Given the description of an element on the screen output the (x, y) to click on. 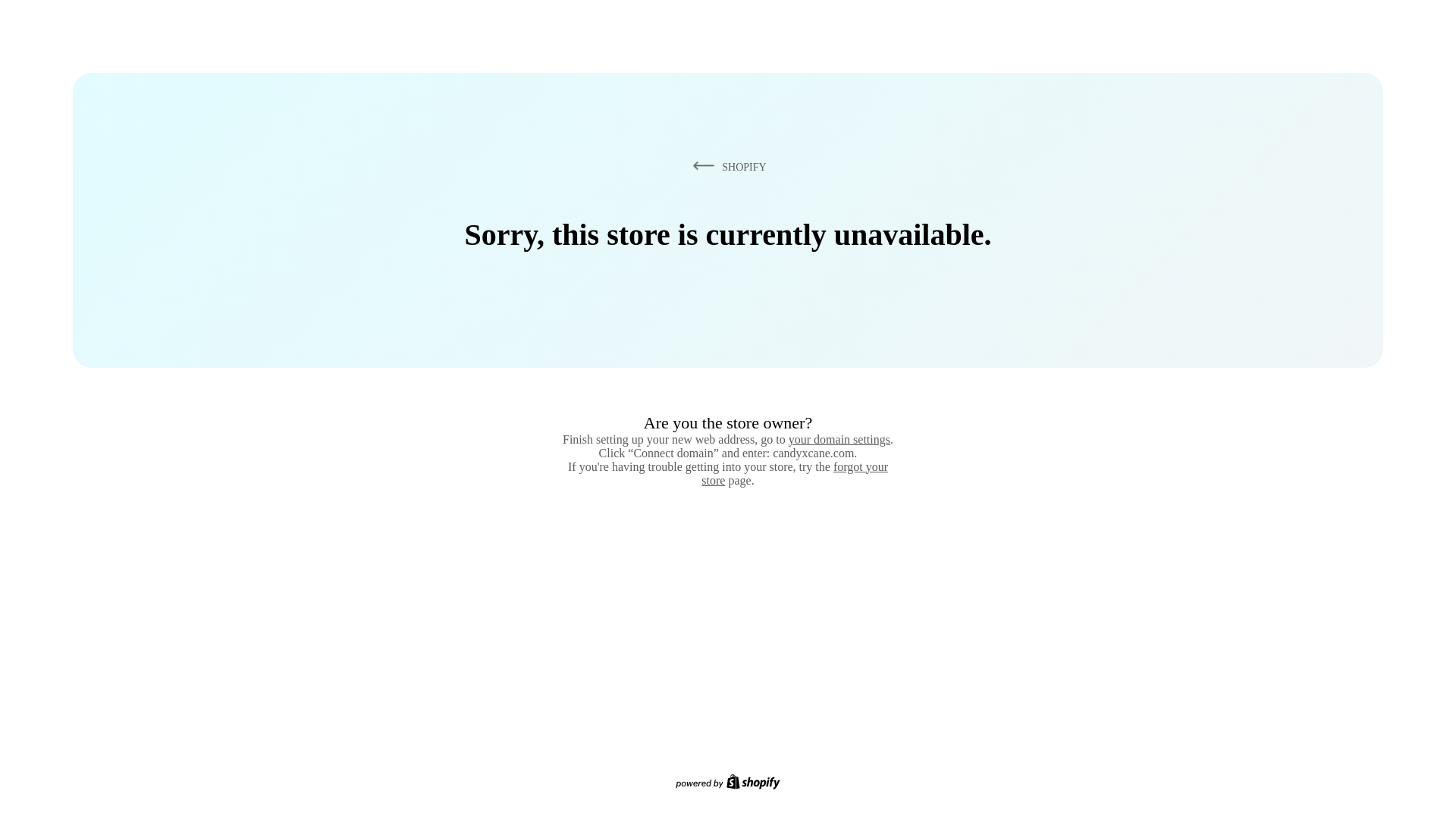
SHOPIFY (726, 166)
forgot your store (794, 473)
your domain settings (839, 439)
